Given the description of an element on the screen output the (x, y) to click on. 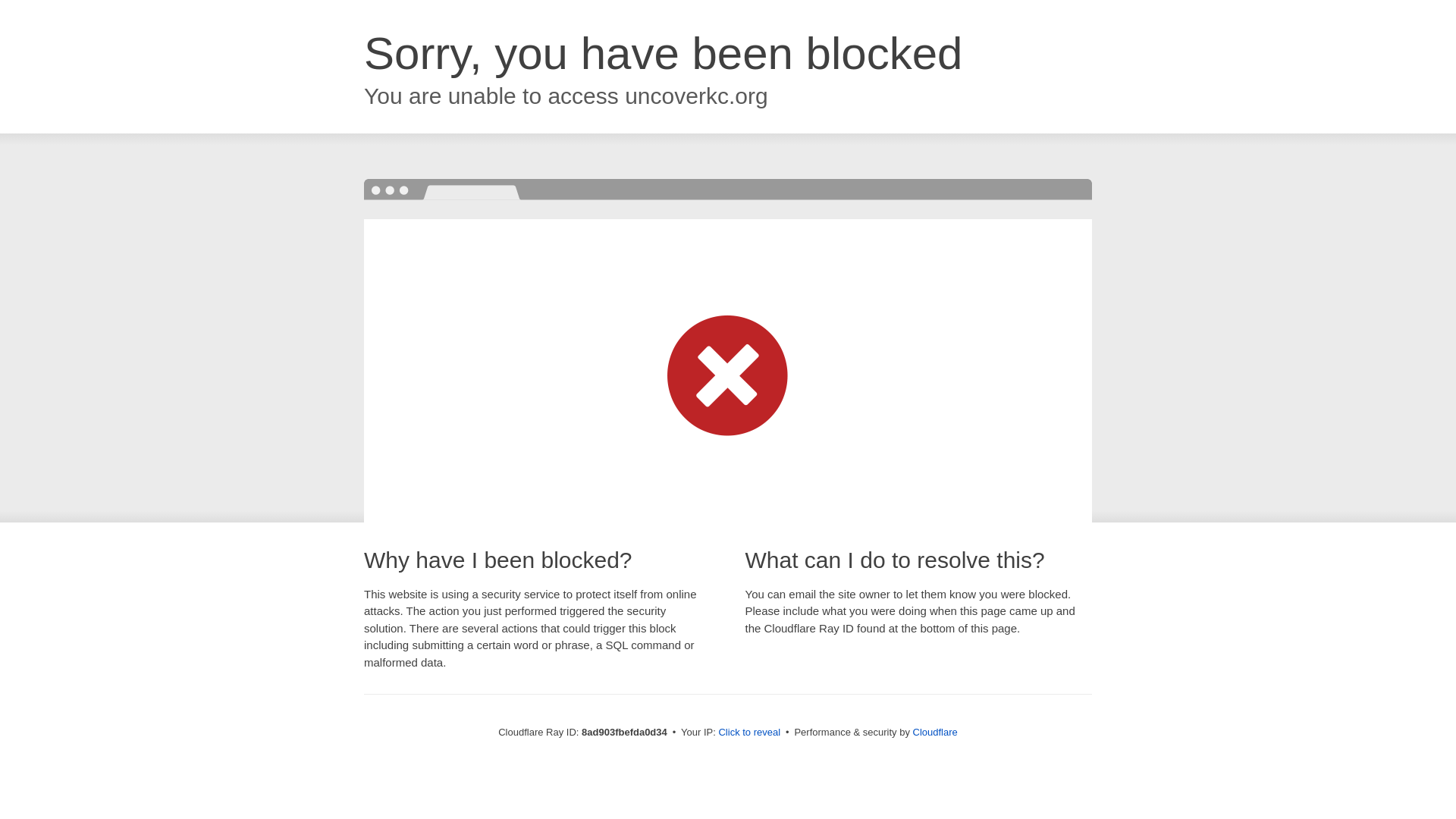
Click to reveal (748, 732)
Cloudflare (935, 731)
